Given the description of an element on the screen output the (x, y) to click on. 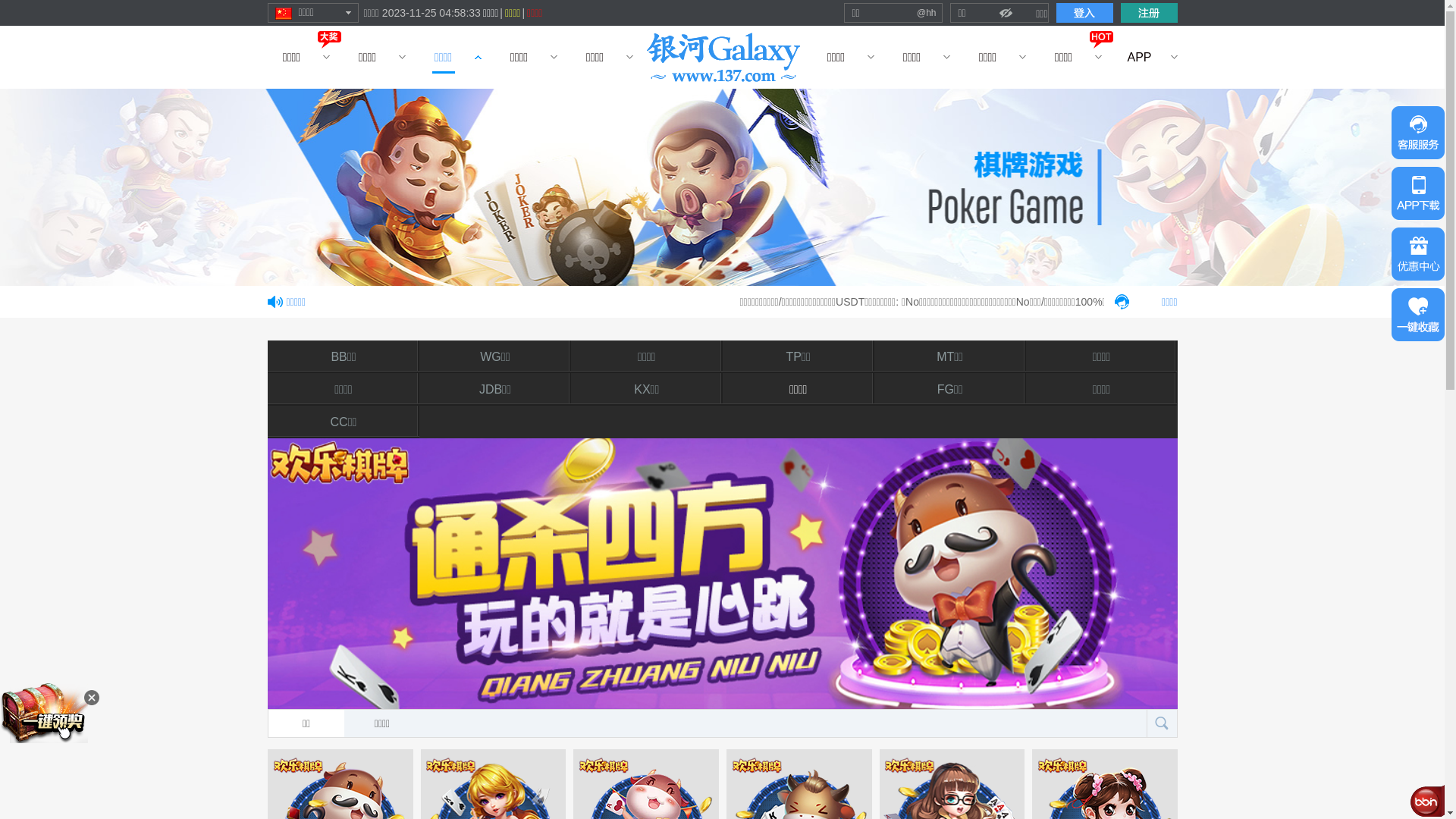
APP Element type: text (1138, 56)
